Given the description of an element on the screen output the (x, y) to click on. 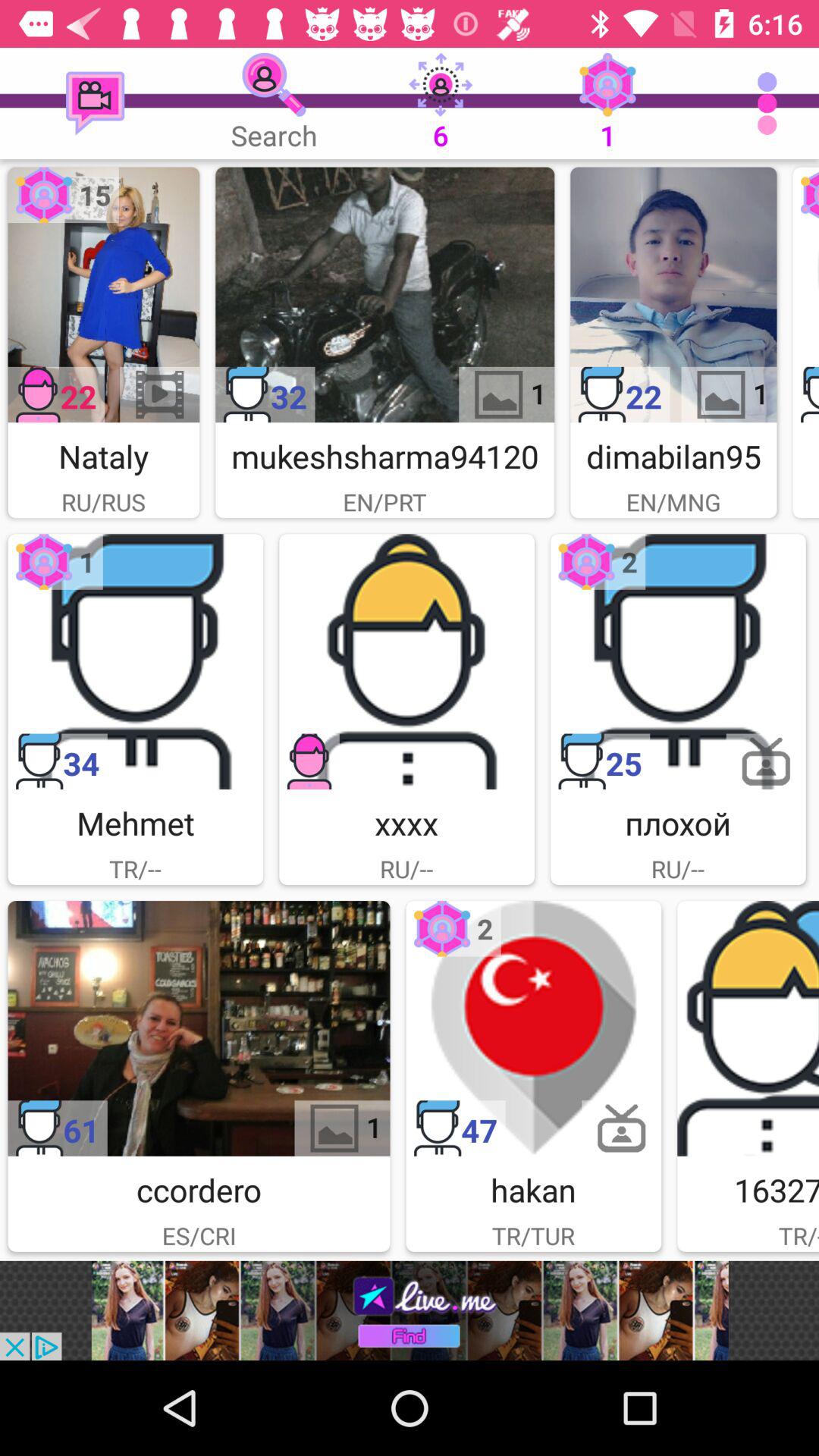
choose avatar (677, 661)
